Given the description of an element on the screen output the (x, y) to click on. 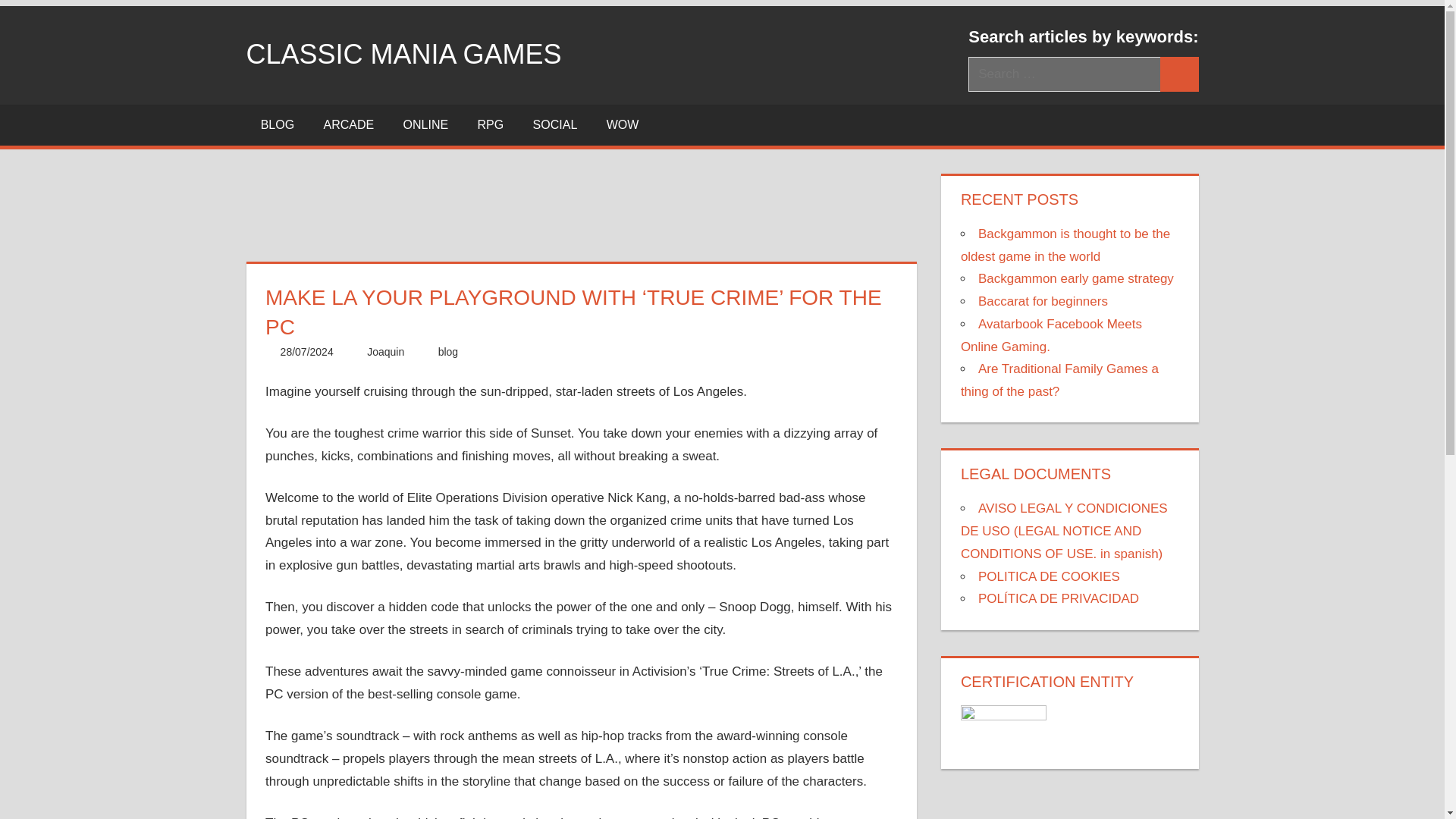
19:25 (307, 351)
ONLINE (425, 124)
Search for: (1064, 73)
Avatarbook Facebook Meets Online Gaming. (1050, 334)
WOW (621, 124)
RPG (490, 124)
View all posts by Joaquin (385, 351)
SOCIAL (554, 124)
Joaquin (385, 351)
Backgammon is thought to be the oldest game in the world (1065, 244)
Baccarat for beginners (1043, 301)
Are Traditional Family Games a thing of the past? (1059, 379)
CLASSIC MANIA GAMES (403, 53)
ARCADE (348, 124)
BLOG (277, 124)
